Given the description of an element on the screen output the (x, y) to click on. 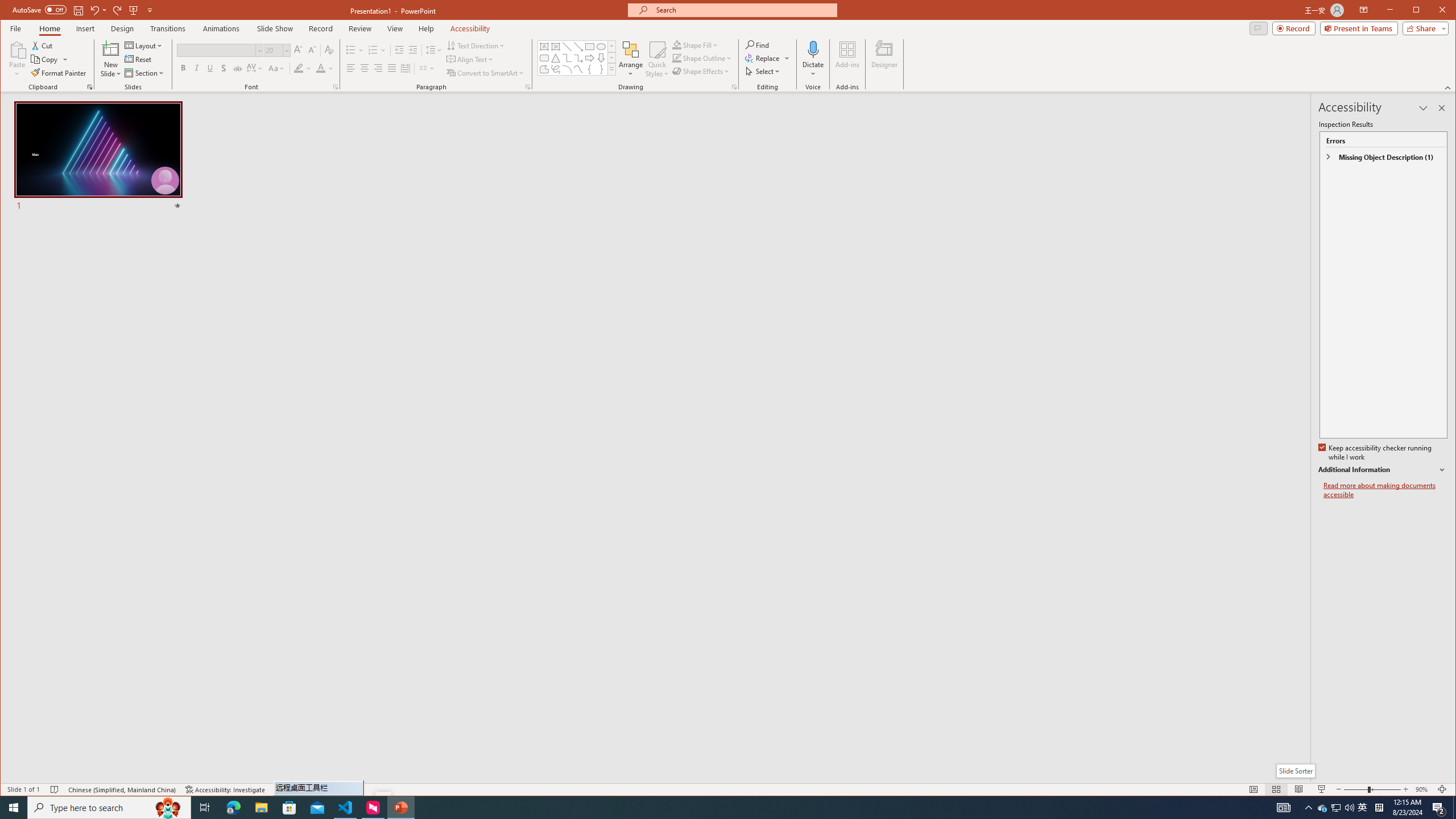
Clear Formatting (328, 49)
Rectangle (589, 46)
Search highlights icon opens search home window (167, 807)
Shape Outline Blue, Accent 1 (676, 57)
Read more about making documents accessible (1385, 489)
Convert to SmartArt (485, 72)
Office Clipboard... (89, 86)
